Given the description of an element on the screen output the (x, y) to click on. 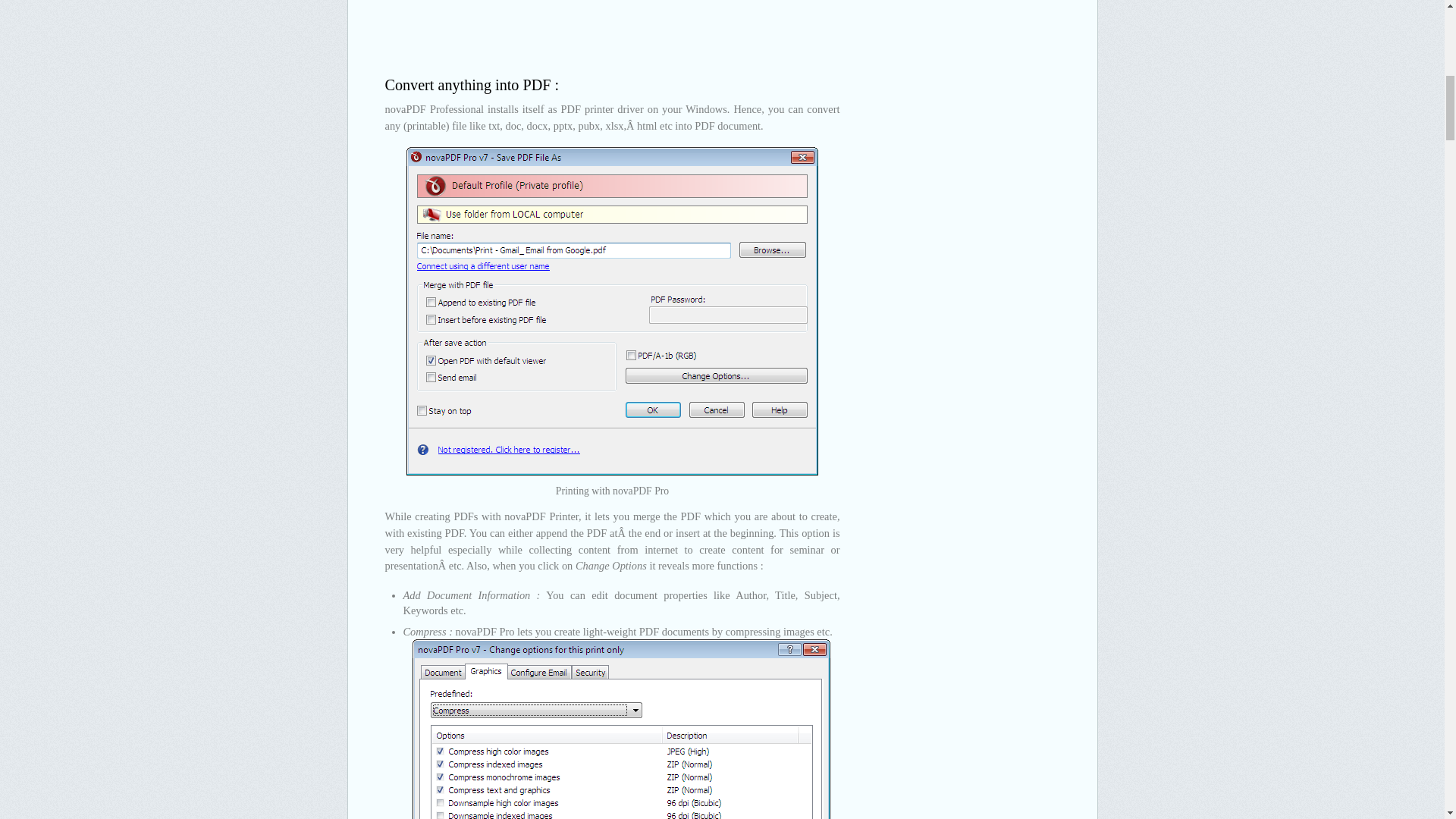
Advertisement (612, 29)
